Given the description of an element on the screen output the (x, y) to click on. 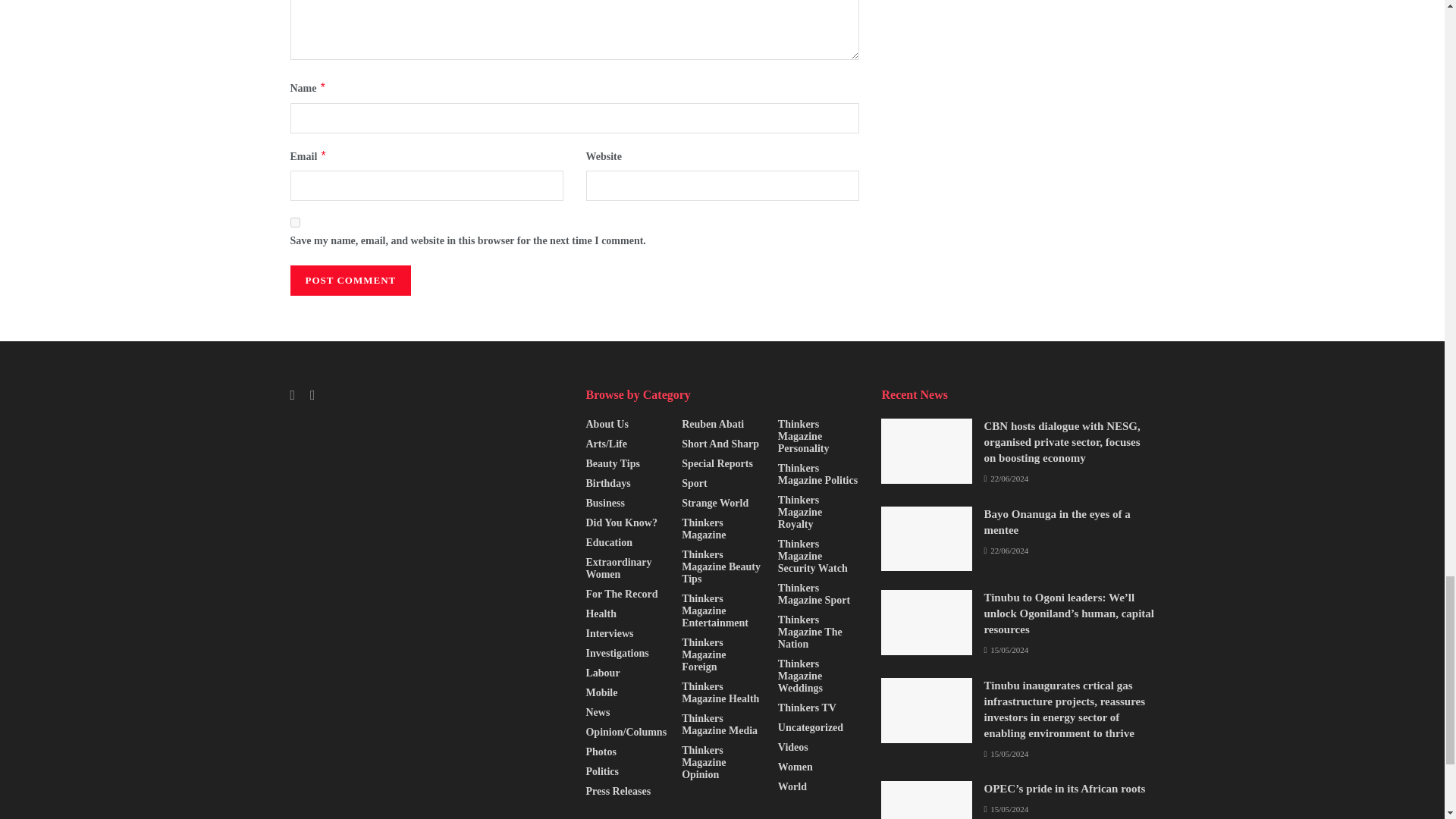
yes (294, 222)
Post Comment (349, 280)
